Given the description of an element on the screen output the (x, y) to click on. 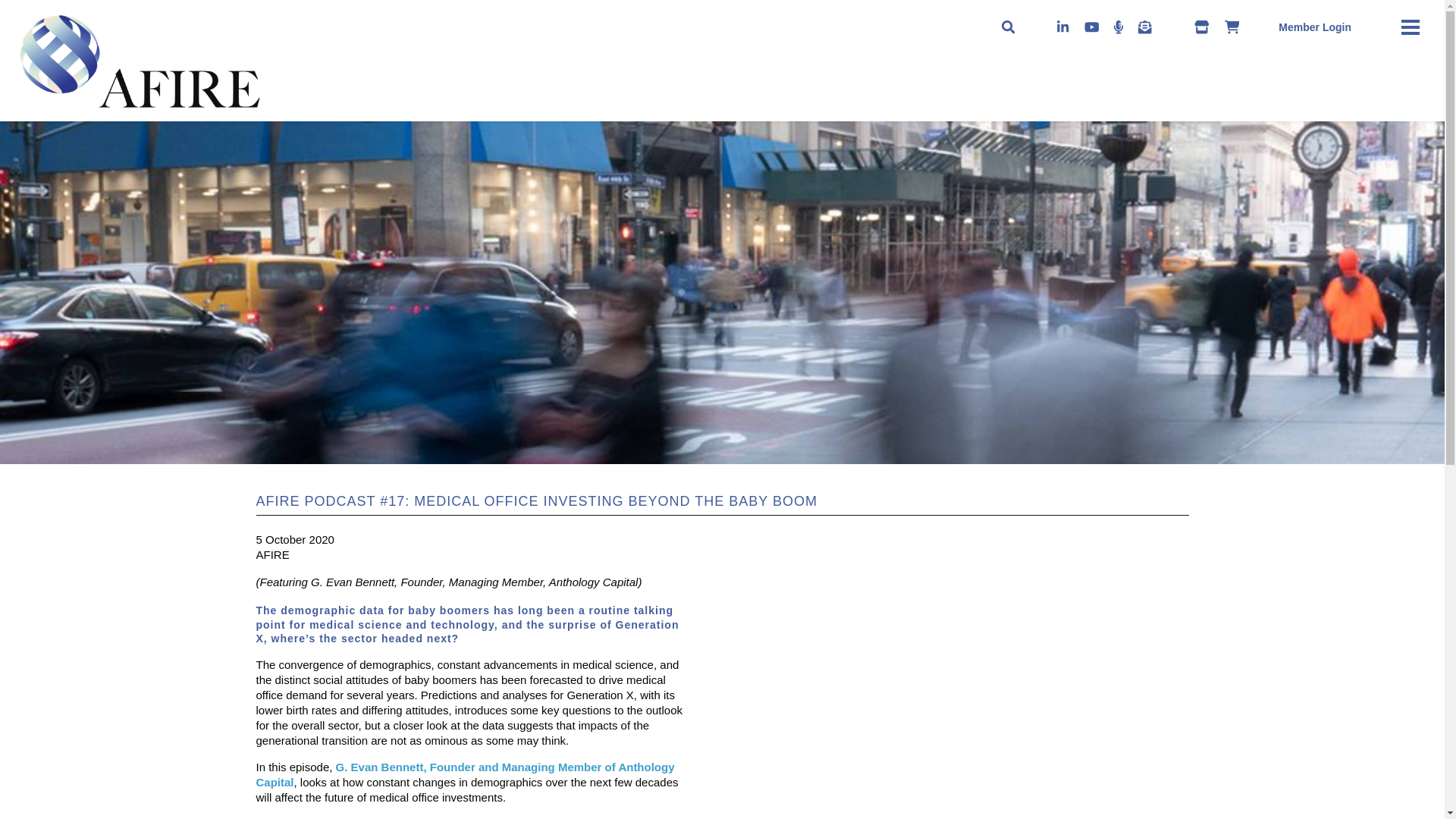
Member Login (1314, 27)
Primary Menu (1409, 27)
AFIRE (35, 115)
